Given the description of an element on the screen output the (x, y) to click on. 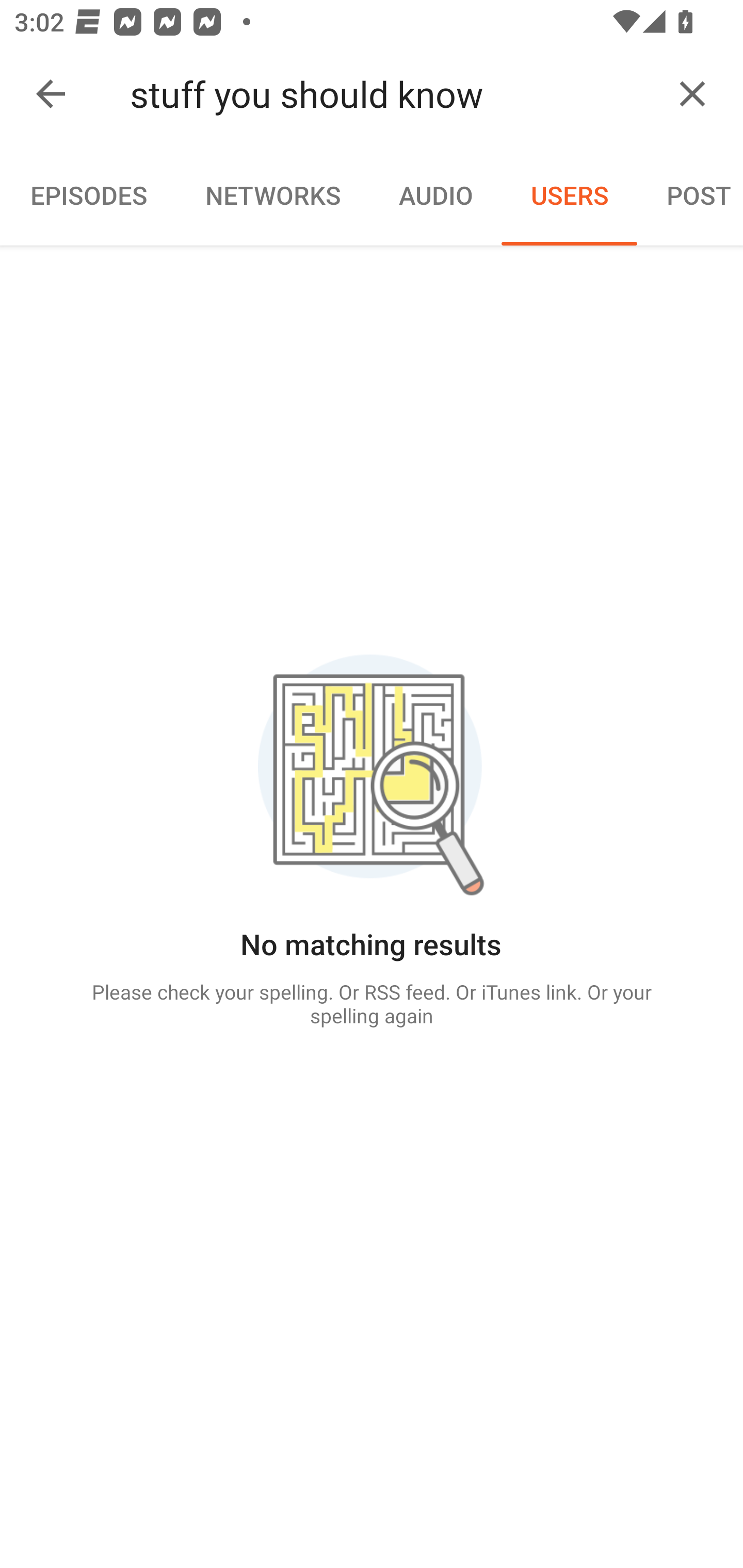
Collapse (50, 93)
Clear query (692, 93)
stuff you should know (393, 94)
EPISODES (88, 195)
NETWORKS (272, 195)
AUDIO (435, 195)
USERS (569, 195)
POST (690, 195)
